Given the description of an element on the screen output the (x, y) to click on. 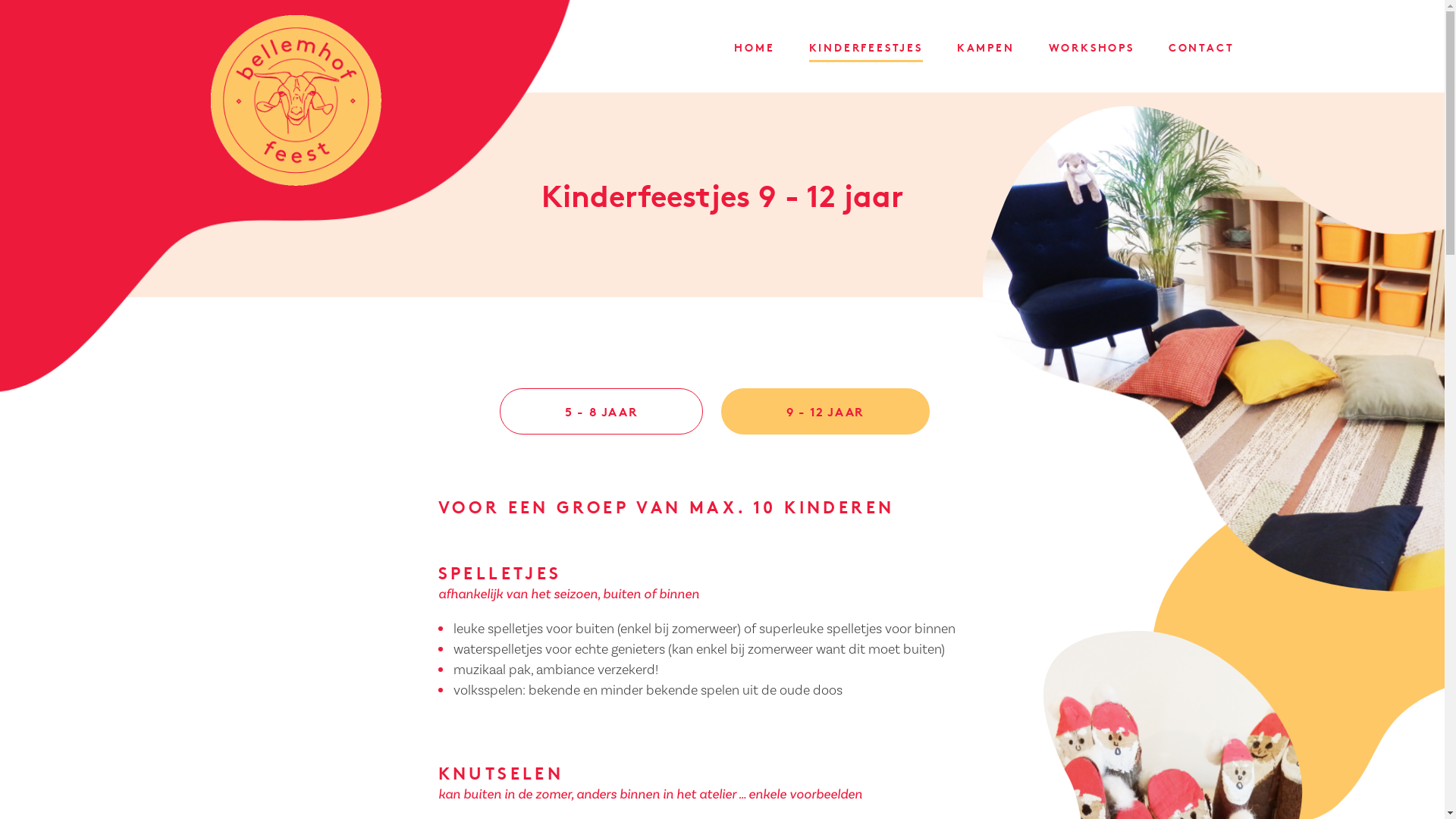
KAMPEN Element type: text (985, 51)
WORKSHOPS Element type: text (1091, 51)
CONTACT Element type: text (1201, 51)
HOME Element type: text (754, 51)
KINDERFEESTJES Element type: text (865, 51)
5 - 8 JAAR Element type: text (600, 411)
9 - 12 JAAR Element type: text (825, 411)
